Given the description of an element on the screen output the (x, y) to click on. 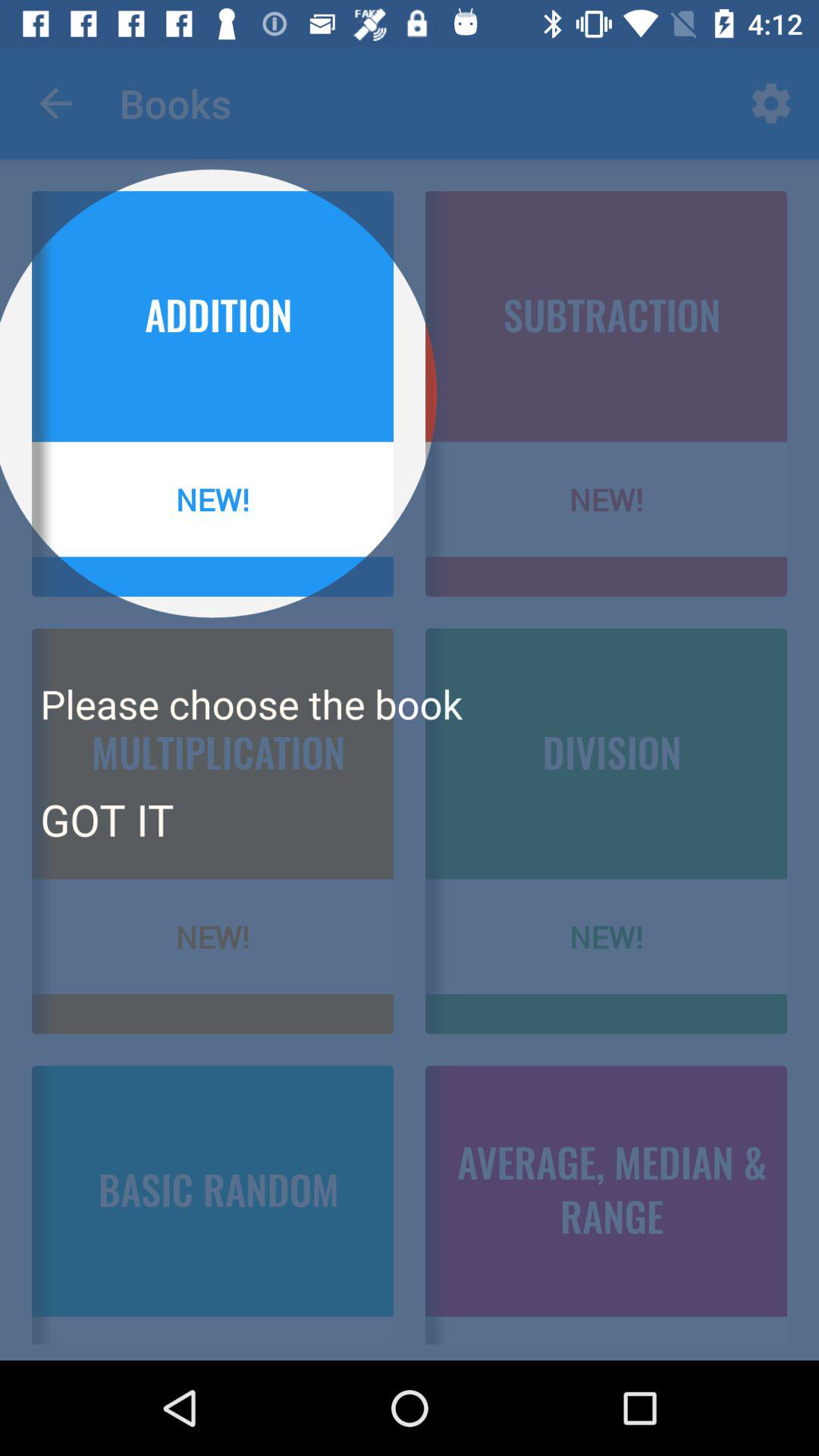
press the app to the left of the books icon (55, 103)
